Given the description of an element on the screen output the (x, y) to click on. 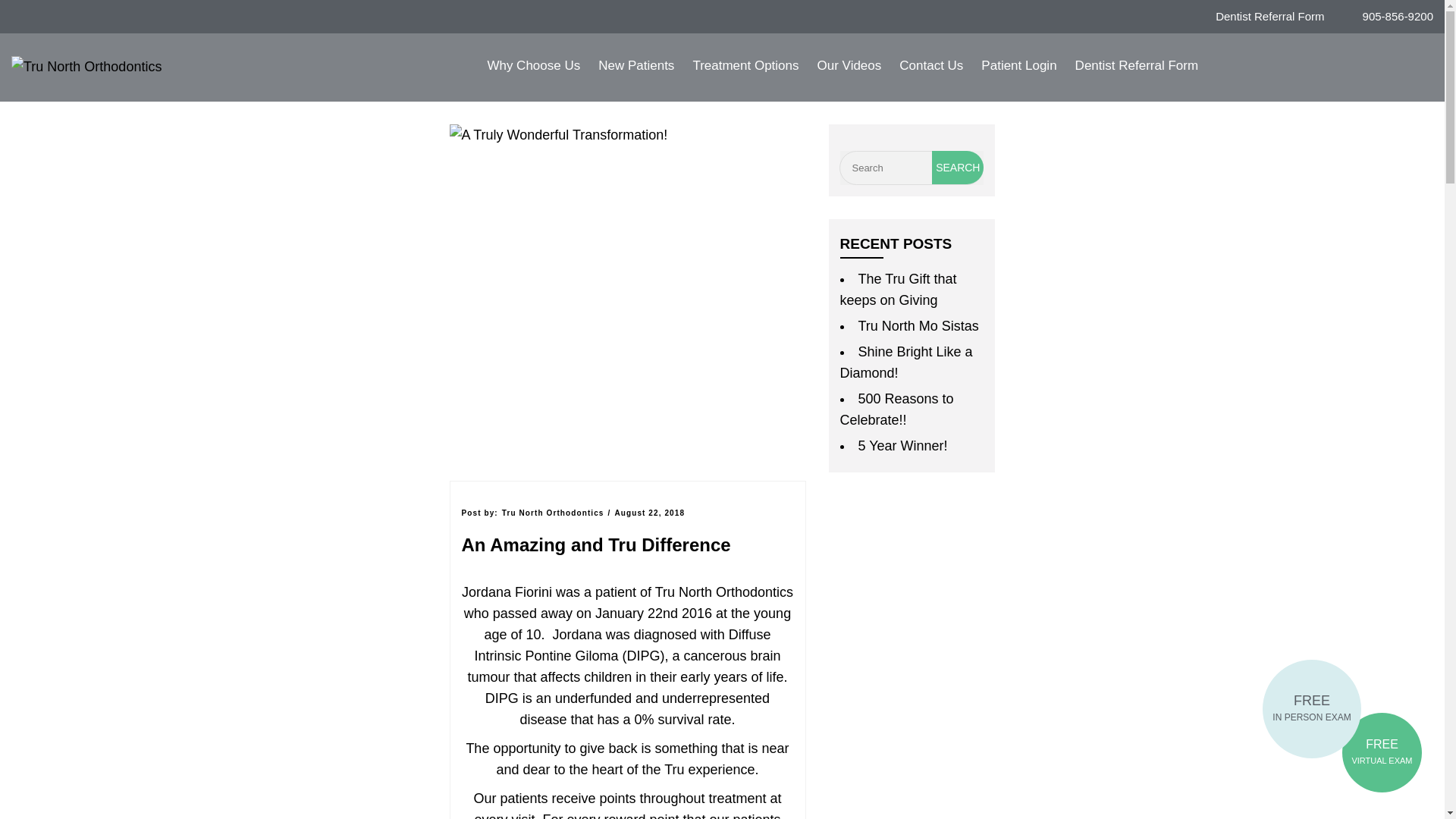
Tru North Orthodontics (86, 65)
905-856-9200 (1385, 16)
Search (957, 167)
Dentist Referral Form (1257, 16)
Posts by Tru North Orthodontics (553, 512)
